Given the description of an element on the screen output the (x, y) to click on. 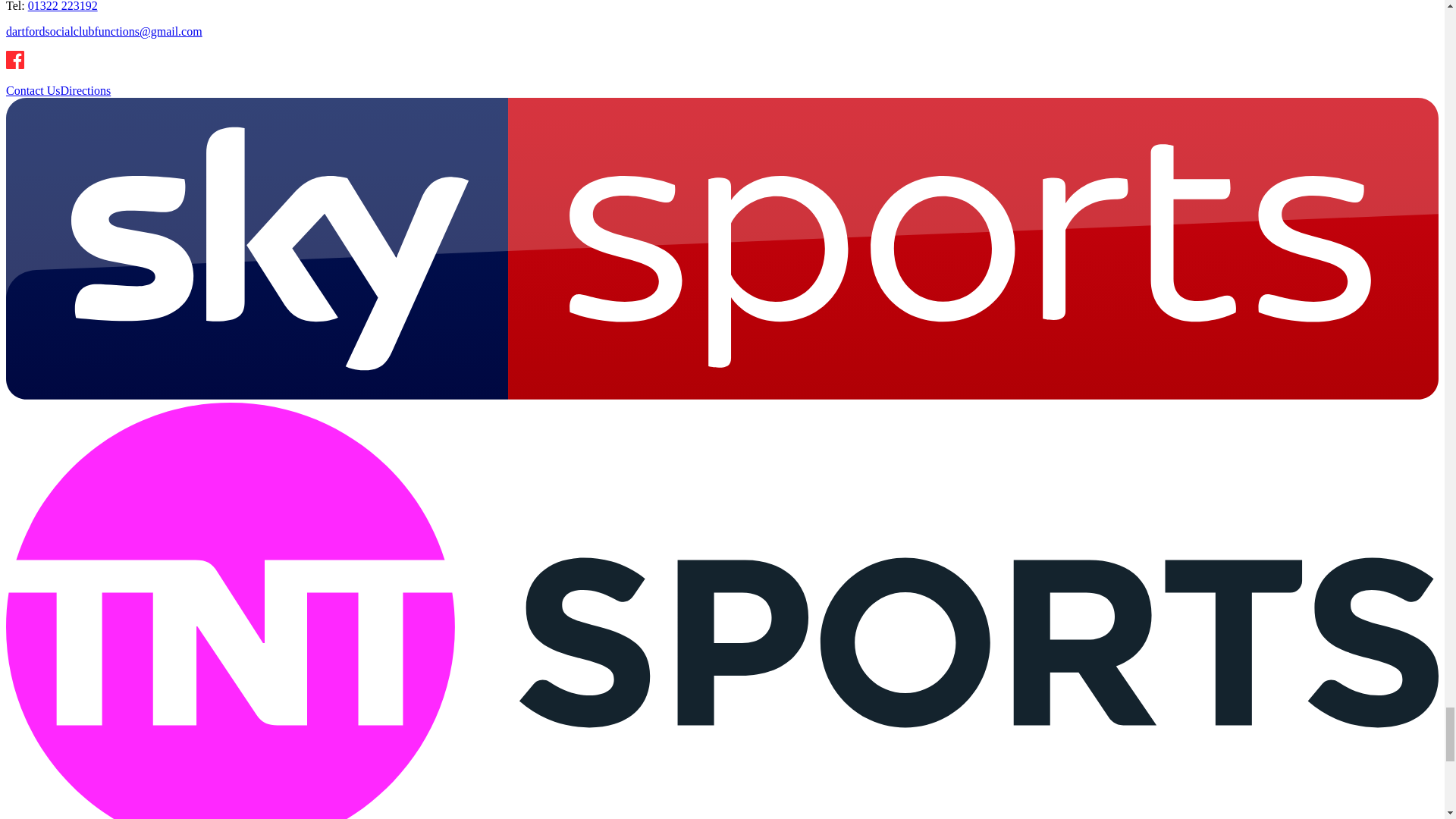
Contact Us (33, 90)
Facebook (14, 59)
Directions (86, 90)
01322 223192 (62, 6)
Facebook (14, 64)
